Given the description of an element on the screen output the (x, y) to click on. 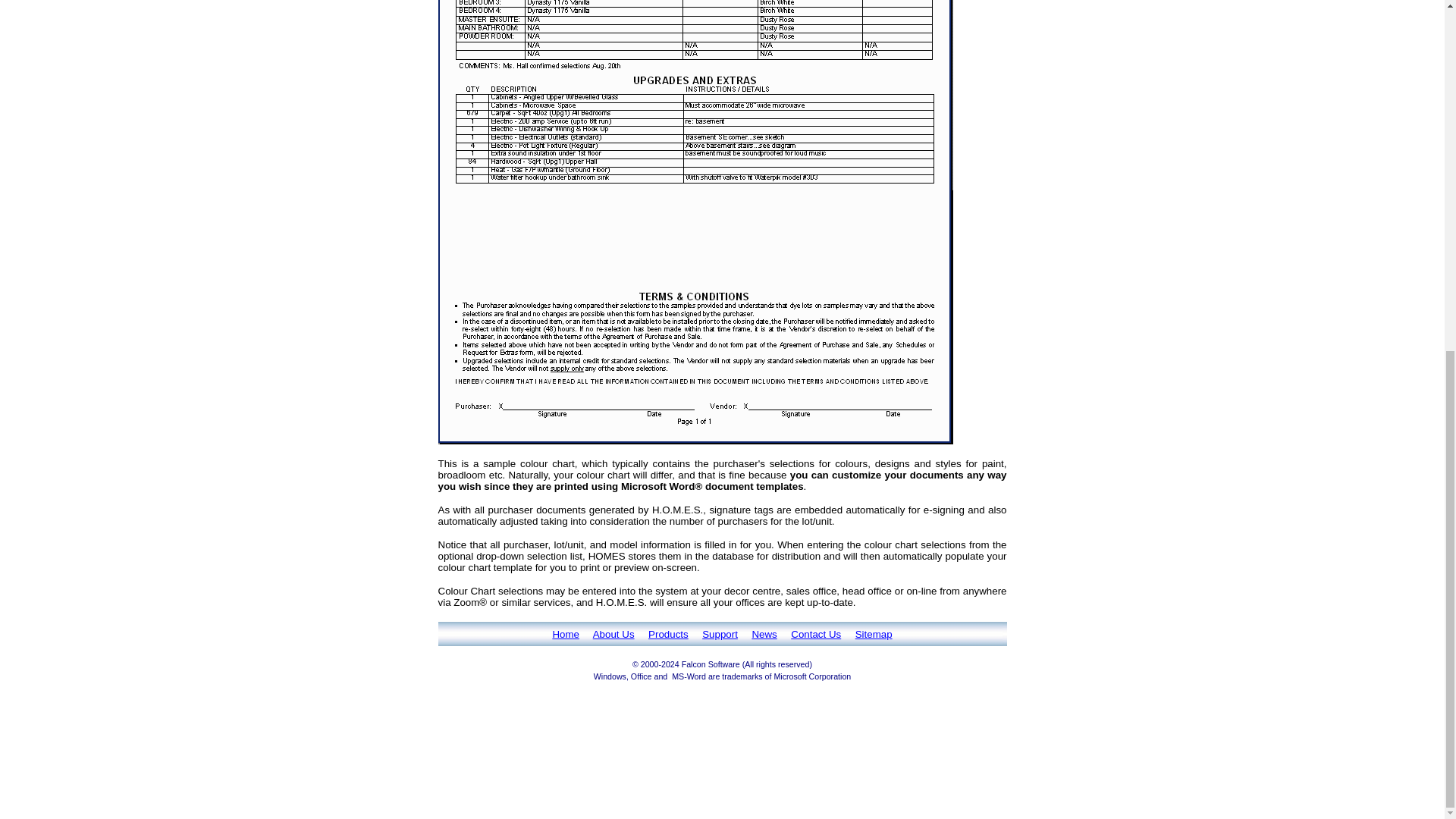
Contact Information (815, 633)
Sitemap (874, 633)
Products (667, 633)
Technical Support (719, 633)
Contact Us (815, 633)
Support (719, 633)
Home (565, 633)
Our Products (667, 633)
Company Information (613, 633)
Website table of contents (874, 633)
